Given the description of an element on the screen output the (x, y) to click on. 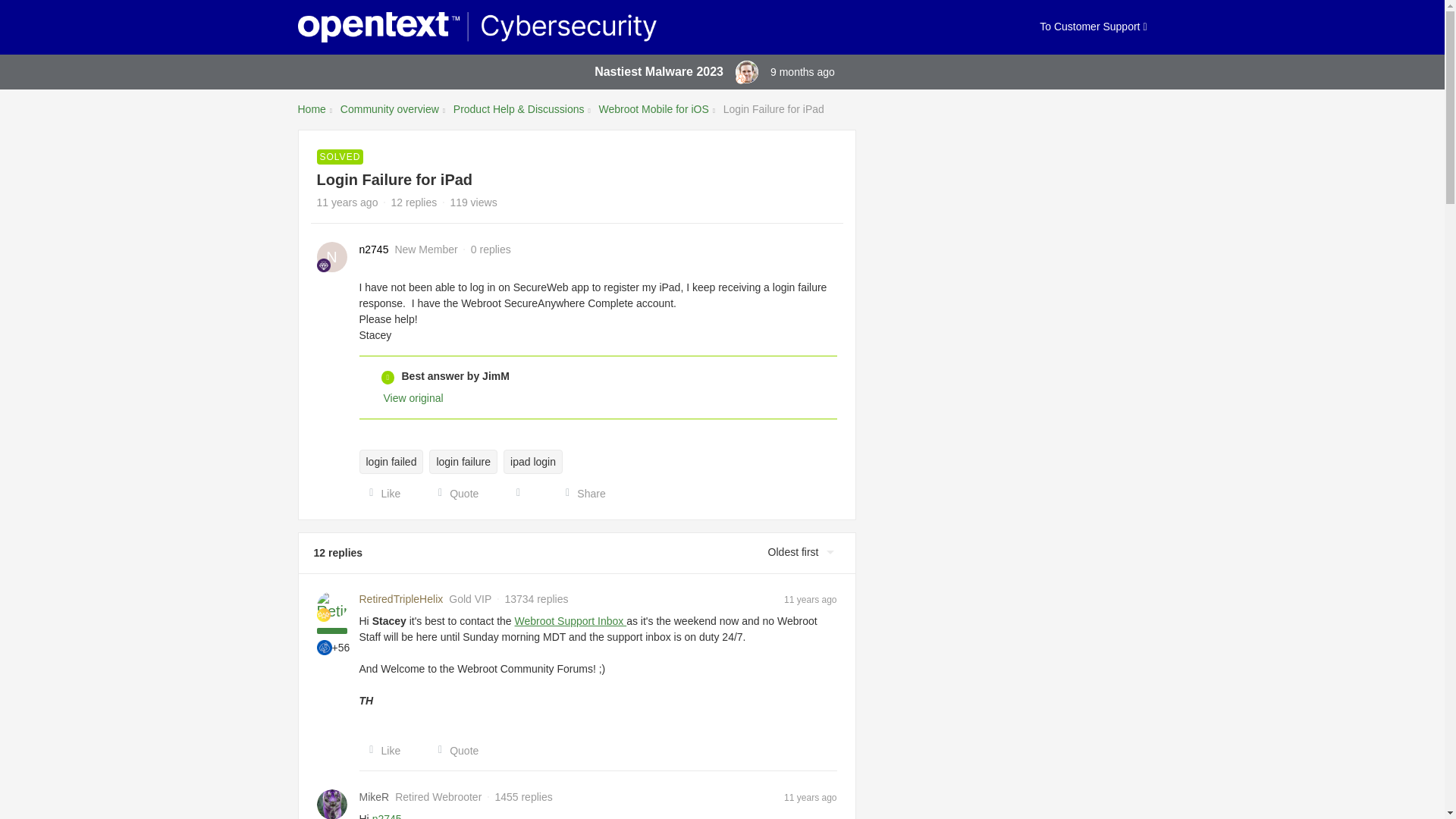
12 replies (414, 202)
New Member (323, 264)
Webroot Support Inbox (571, 621)
MikeR (374, 797)
n2745 (373, 249)
login failed (391, 461)
Quote (453, 493)
Community overview (389, 109)
login failure (463, 461)
N (332, 256)
